Given the description of an element on the screen output the (x, y) to click on. 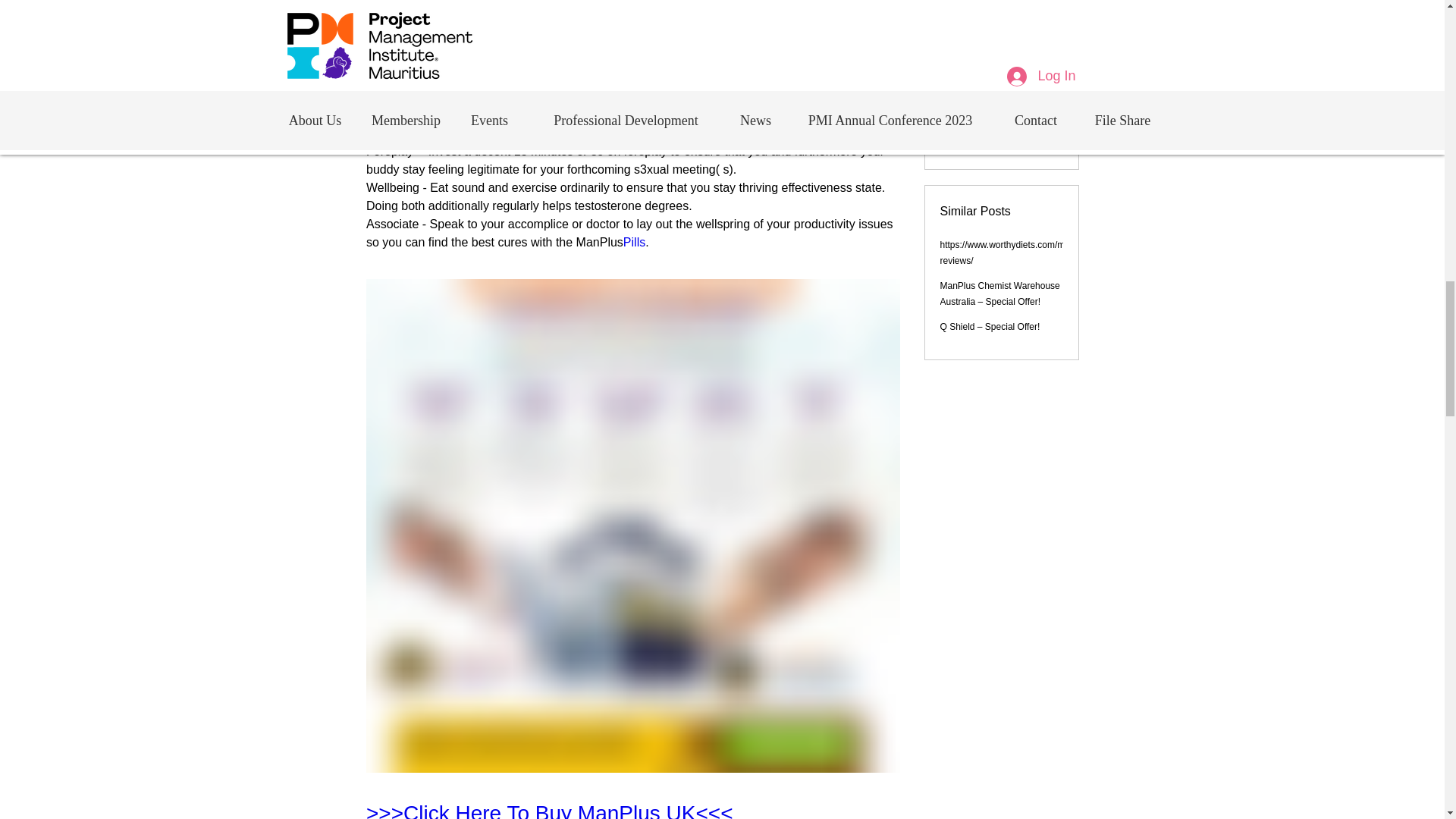
supplements  (841, 78)
ManPlus UK Dragons Den Reviews (486, 78)
Pills (634, 241)
